Given the description of an element on the screen output the (x, y) to click on. 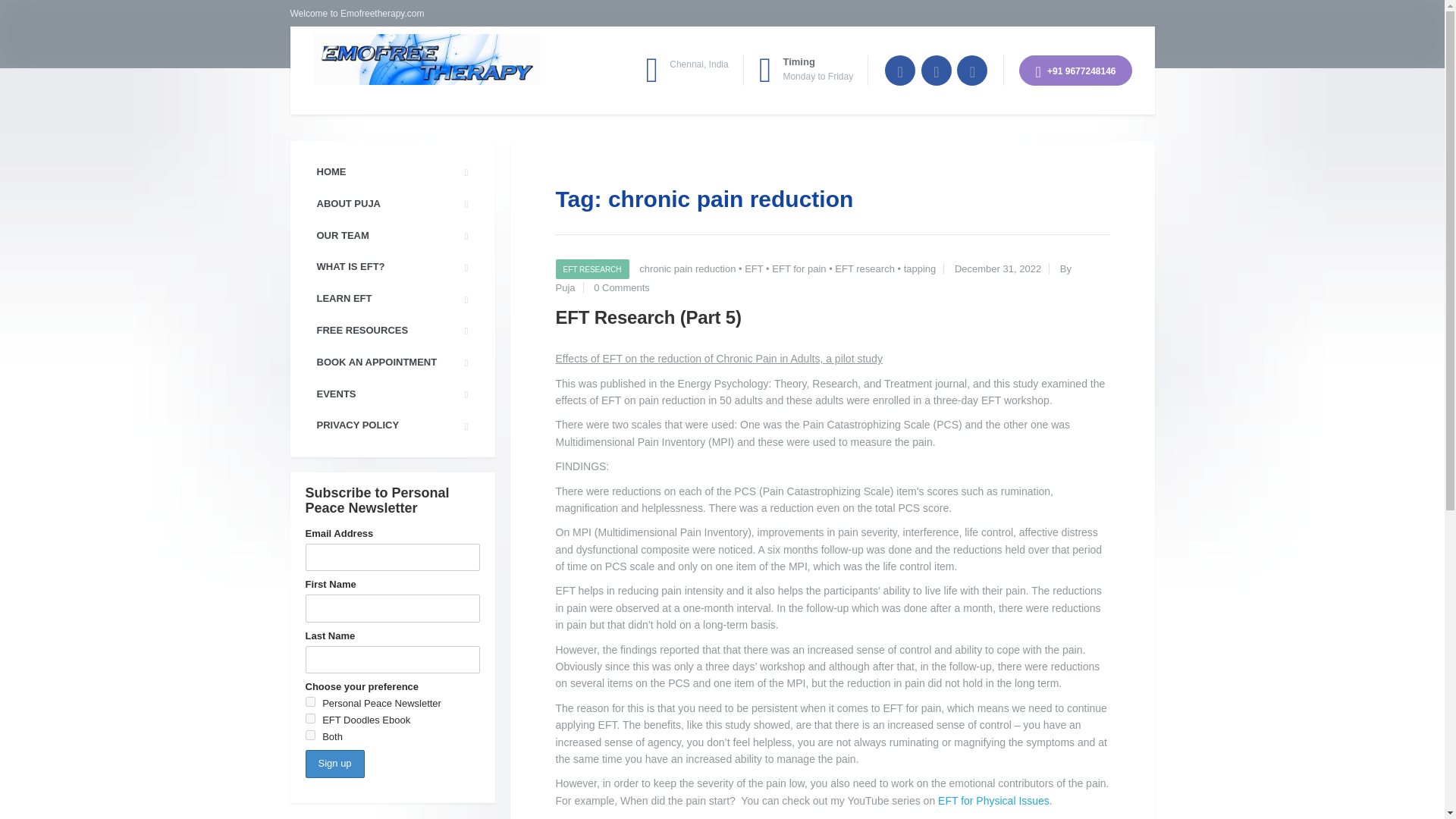
tapping (920, 268)
a56526511d (309, 701)
EFT research (864, 268)
FREE RESOURCES (391, 330)
ABOUT PUJA (391, 204)
LEARN EFT (391, 298)
0 Comments (621, 287)
dc552fa018 (309, 735)
EFT for Physical Issues (993, 800)
HOME (391, 172)
